Given the description of an element on the screen output the (x, y) to click on. 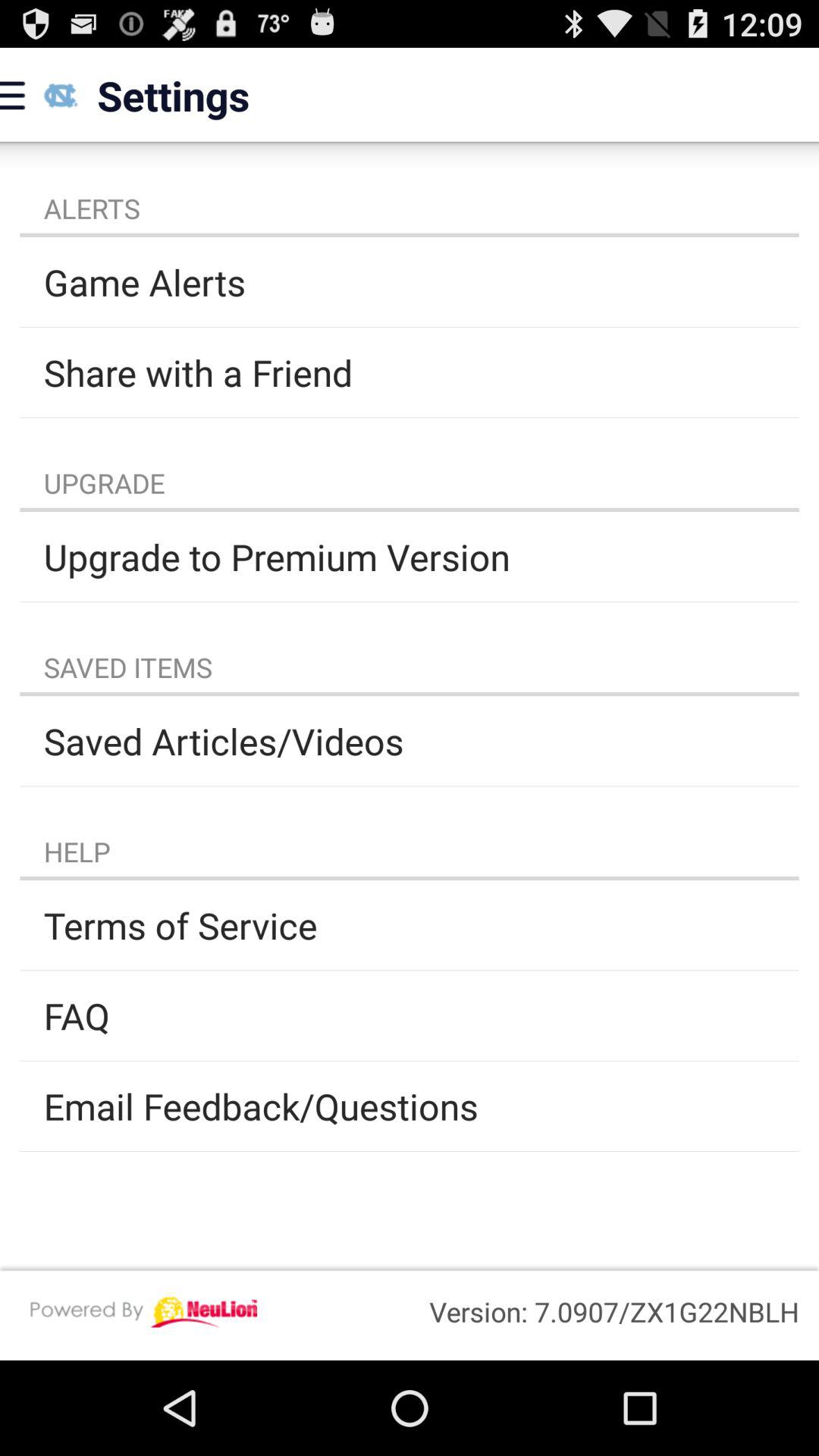
turn on faq item (409, 1015)
